Given the description of an element on the screen output the (x, y) to click on. 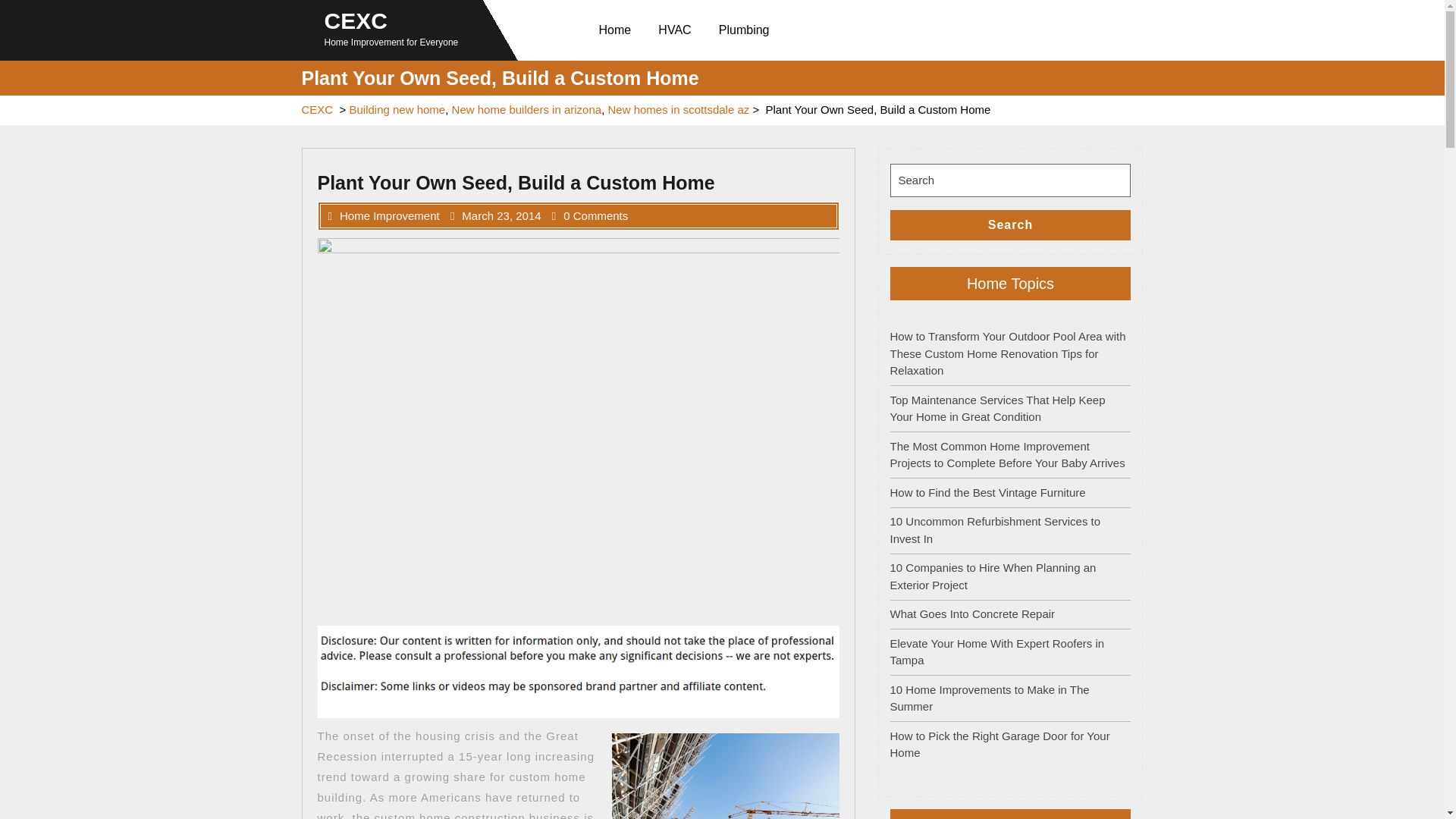
10 Companies to Hire When Planning an Exterior Project (992, 576)
10 Home Improvements to Make in The Summer (989, 697)
New home builders in arizona (526, 109)
What Goes Into Concrete Repair (972, 613)
CEXC (355, 20)
Building new home (397, 109)
Elevate Your Home With Expert Roofers in Tampa (997, 652)
How to Pick the Right Garage Door for Your Home (999, 744)
HVAC (677, 29)
CEXC (317, 109)
How to Find the Best Vintage Furniture (987, 491)
Plumbing (747, 29)
